Given the description of an element on the screen output the (x, y) to click on. 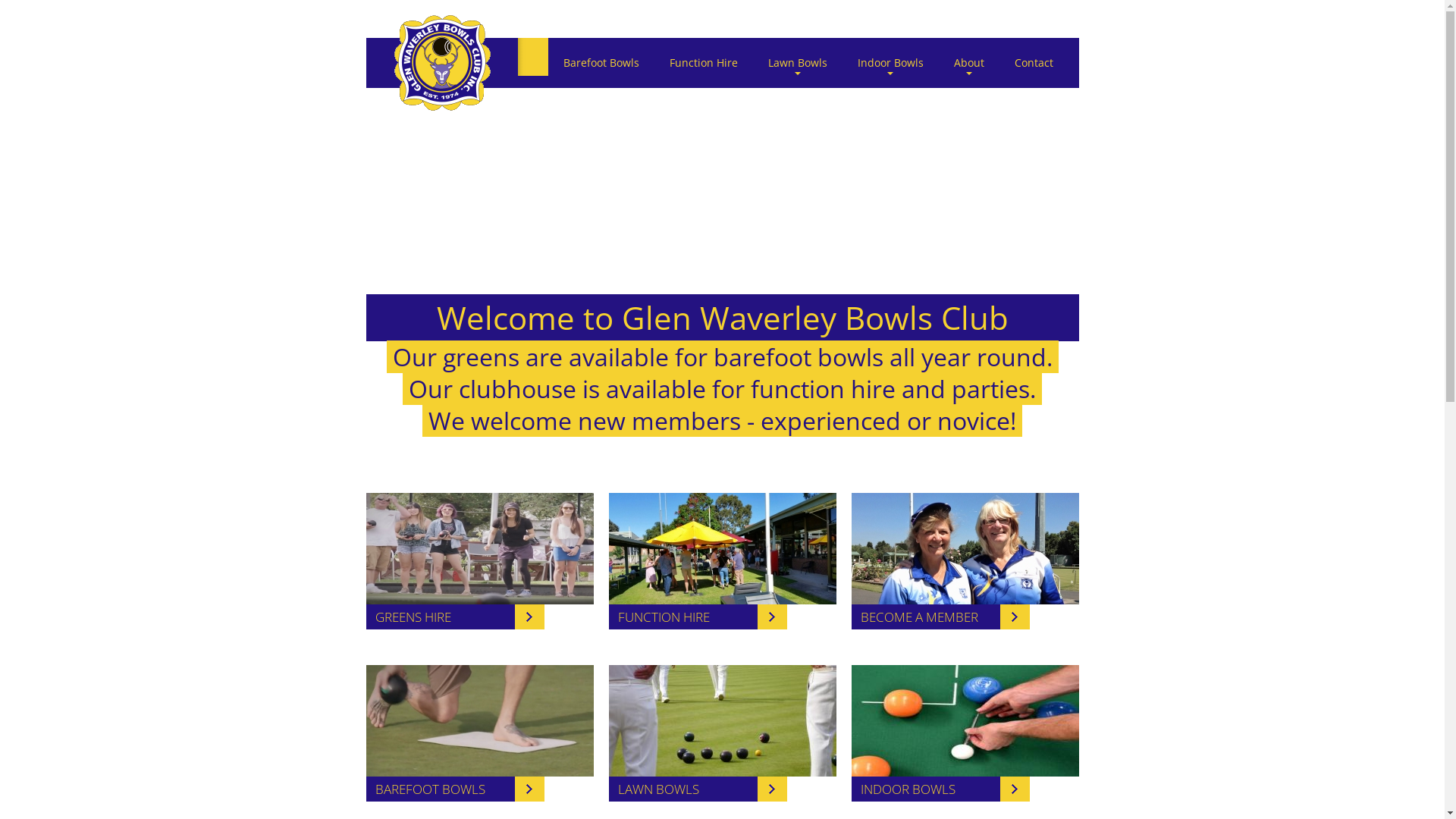
INDOOR BOWLS Element type: text (939, 788)
FUNCTION HIRE Element type: text (697, 616)
Barefoot Bowls Element type: text (600, 62)
BECOME A MEMBER Element type: text (939, 616)
GREENS HIRE Element type: text (454, 616)
LAWN BOWLS Element type: text (697, 788)
BAREFOOT BOWLS Element type: text (454, 788)
Function Hire Element type: text (702, 62)
Contact Element type: text (1033, 62)
